Given the description of an element on the screen output the (x, y) to click on. 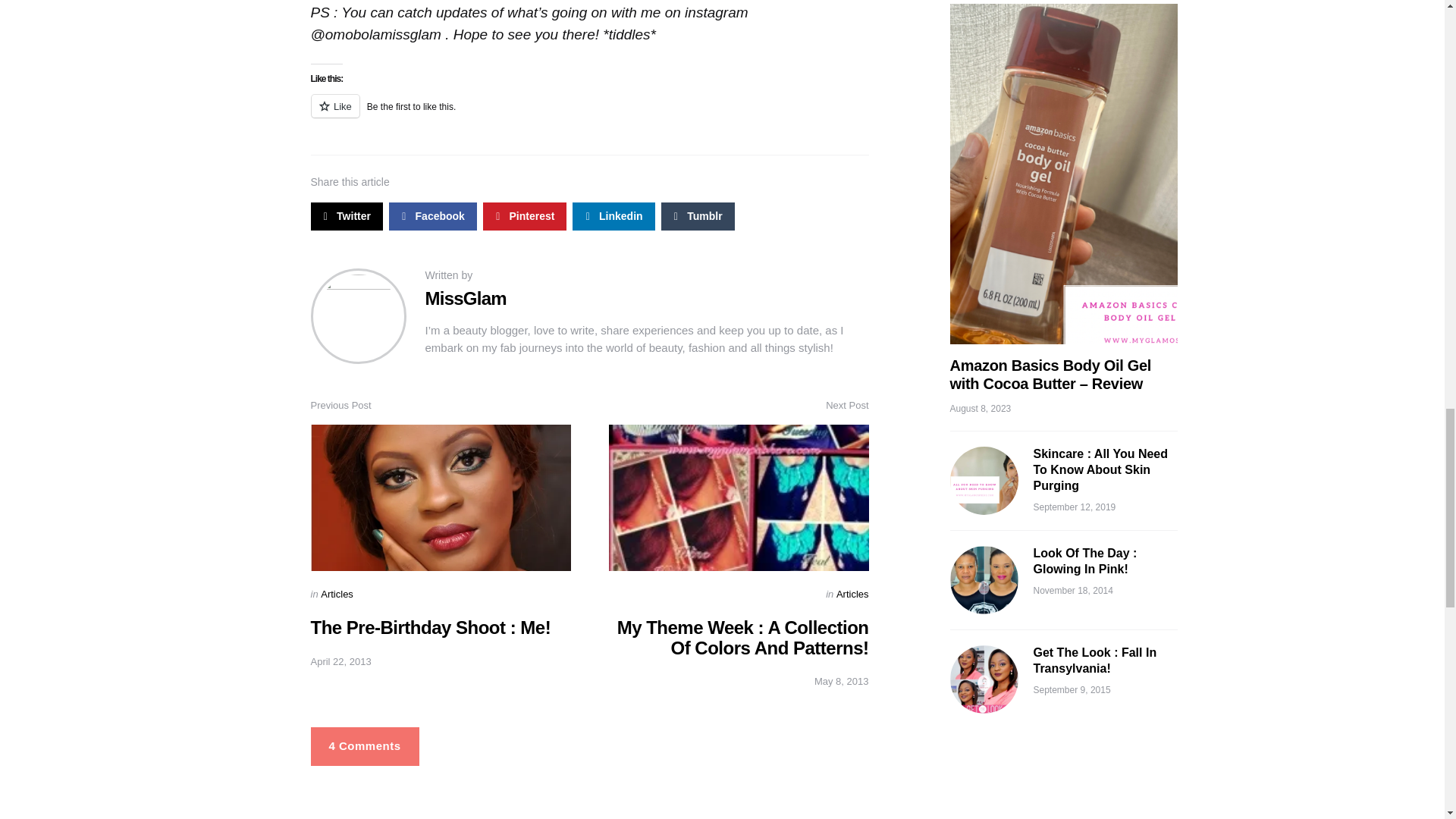
Like or Reblog (590, 114)
